Given the description of an element on the screen output the (x, y) to click on. 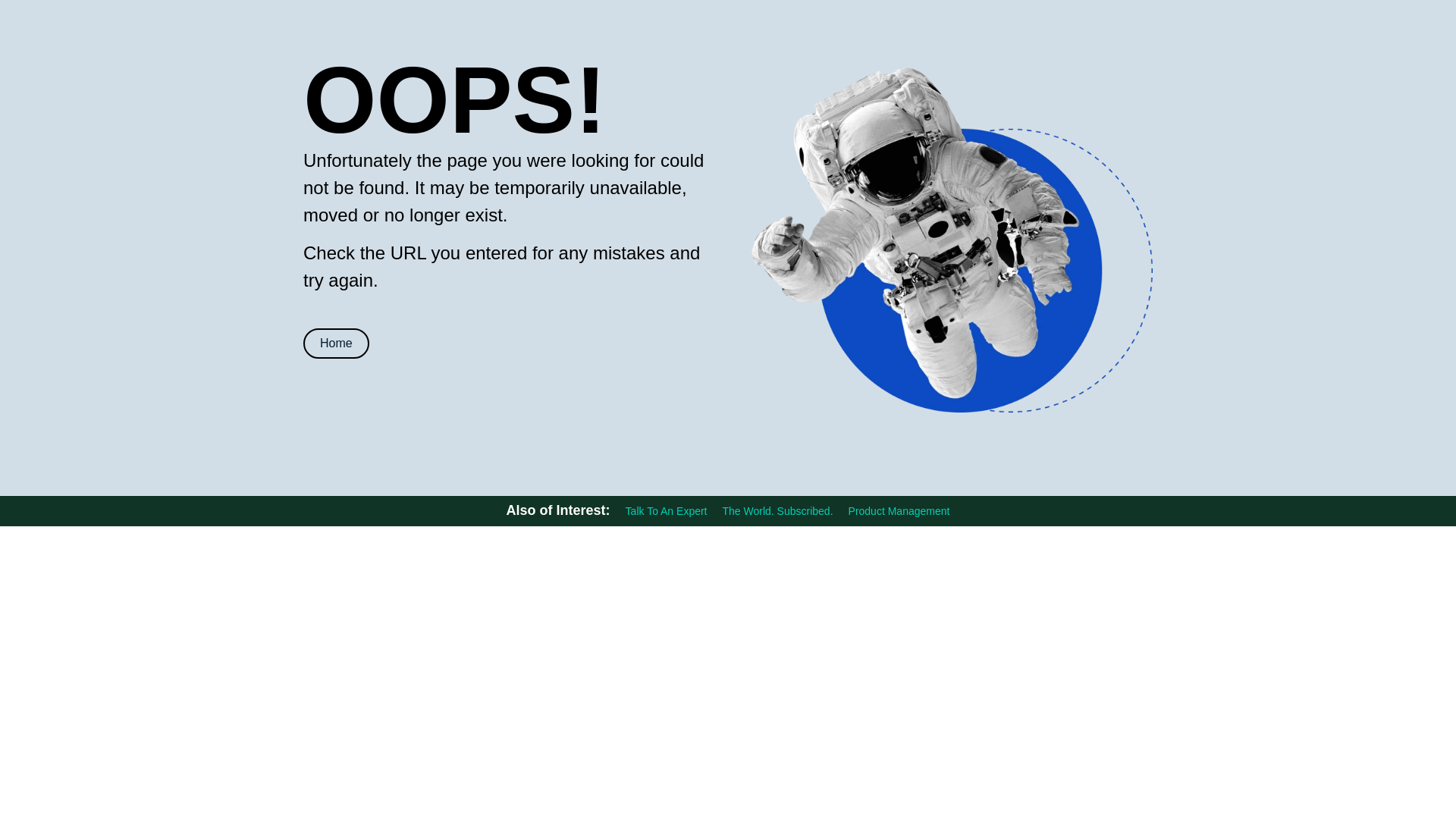
Product Management (899, 510)
The World. Subscribed. (777, 510)
Home (335, 343)
Talk To An Expert (666, 510)
